Given the description of an element on the screen output the (x, y) to click on. 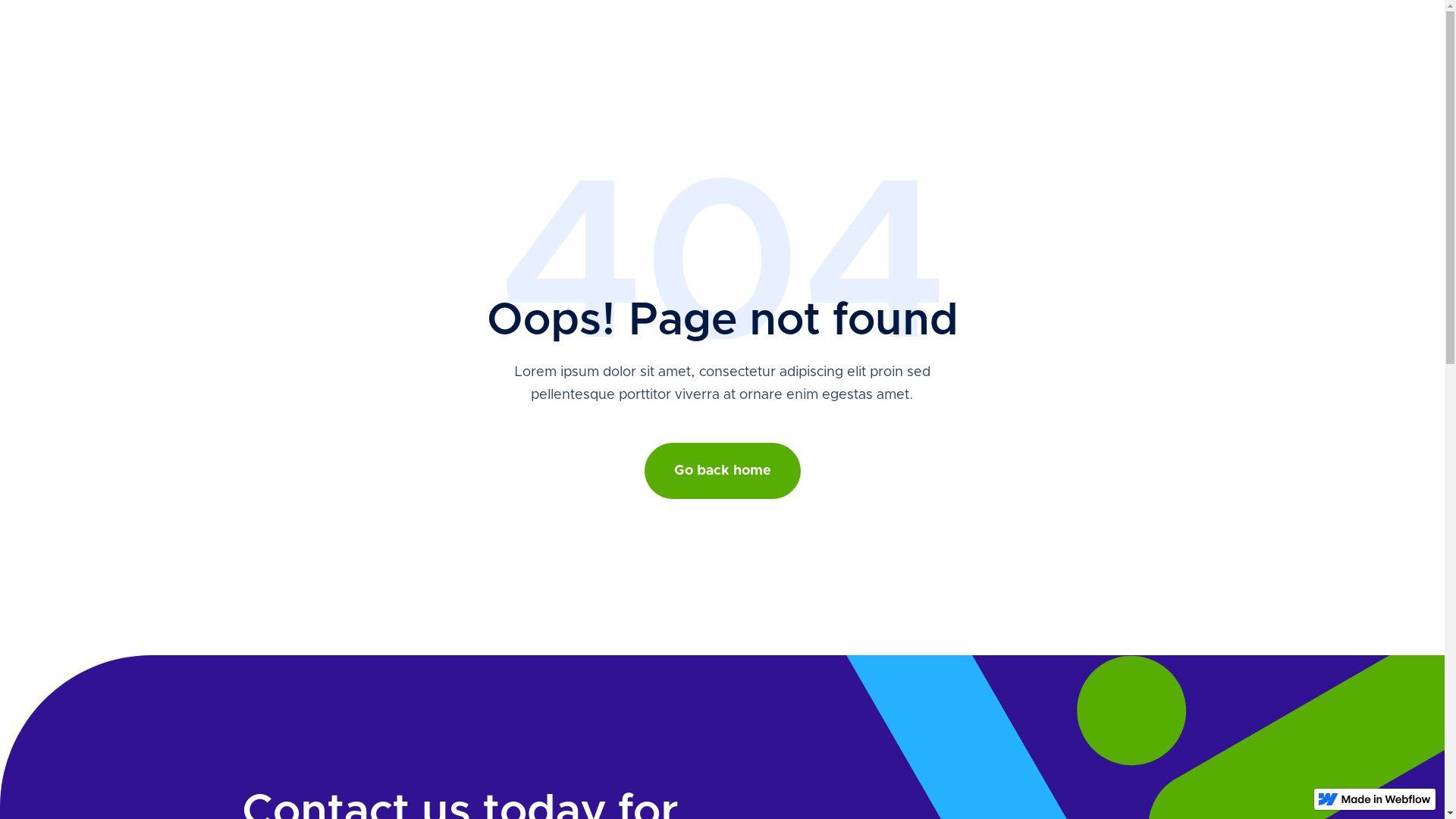
Go back home Element type: text (722, 470)
